Given the description of an element on the screen output the (x, y) to click on. 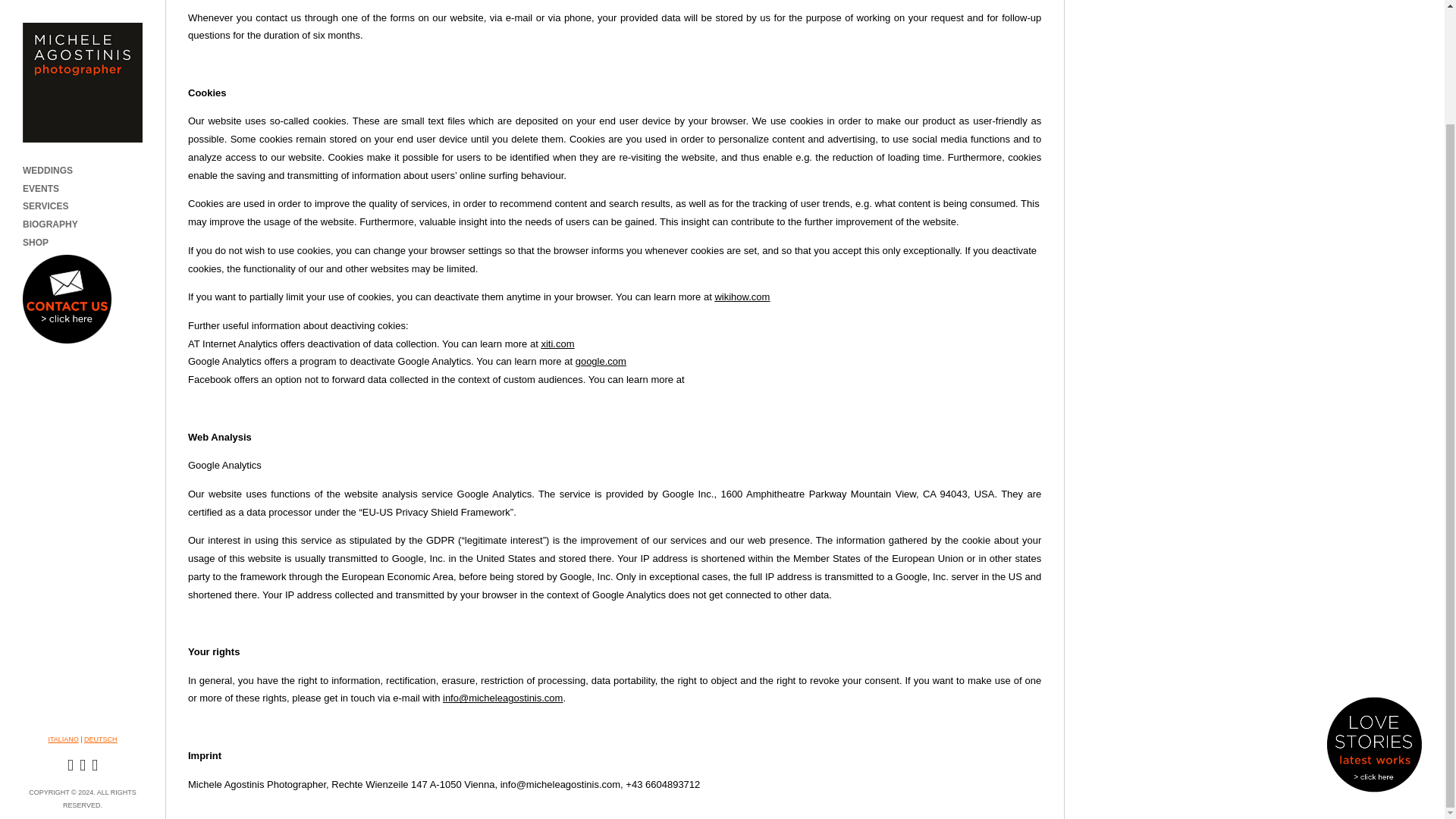
DEUTSCH (100, 603)
xiti.com (556, 343)
SHOP (35, 107)
google.com (600, 360)
SERVICES (45, 70)
EVENTS (41, 53)
BIOGRAPHY (50, 89)
Fotografo Venezia Michele Agostinis (63, 603)
wikihow.com (742, 296)
WEDDINGS (47, 35)
ITALIANO (63, 603)
